Given the description of an element on the screen output the (x, y) to click on. 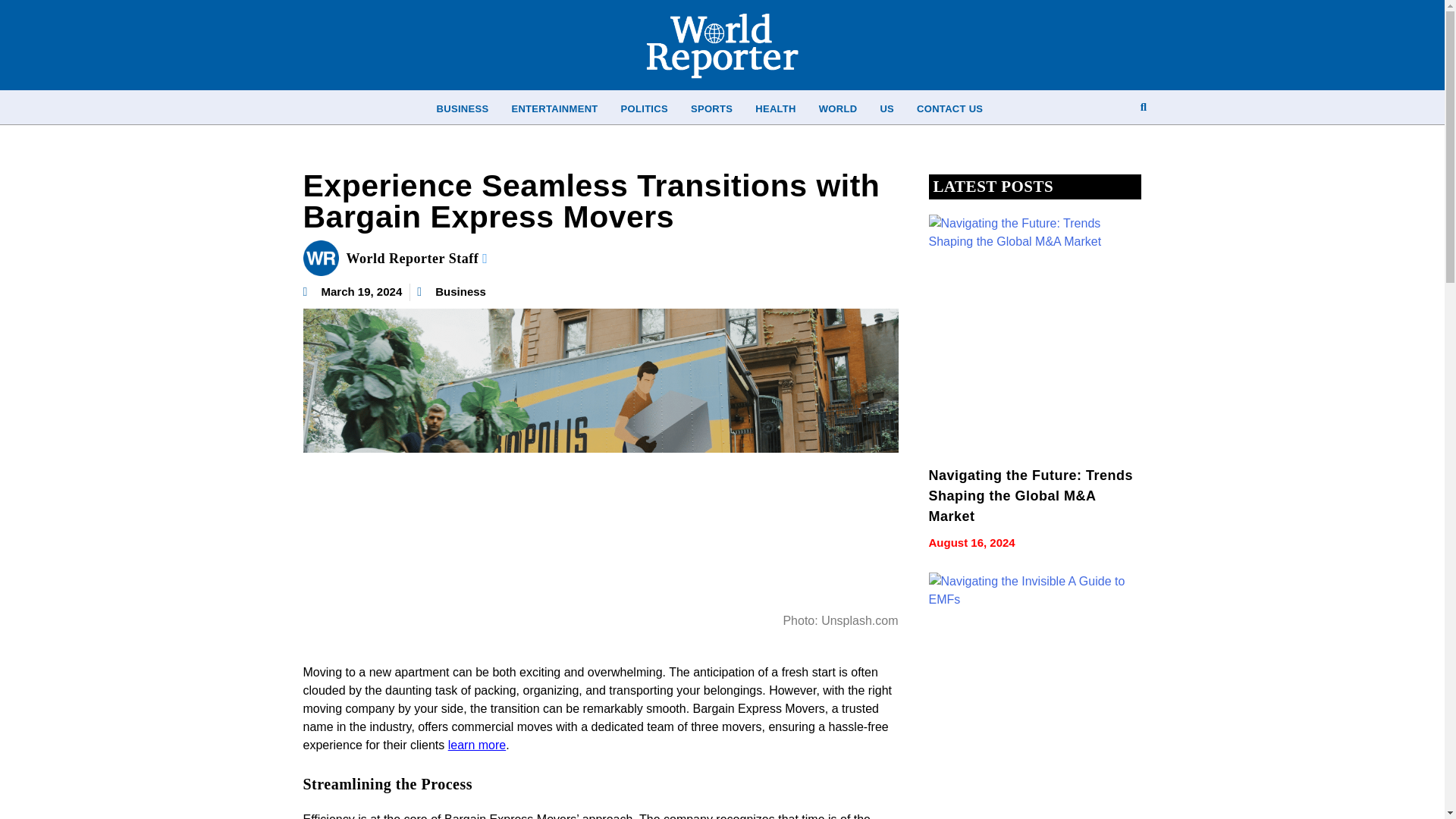
CONTACT US (949, 108)
learn more (476, 744)
HEALTH (776, 108)
US (886, 108)
World Reporter Staff (416, 258)
Business (460, 291)
SPORTS (711, 108)
March 19, 2024 (352, 292)
WORLD (838, 108)
